Given the description of an element on the screen output the (x, y) to click on. 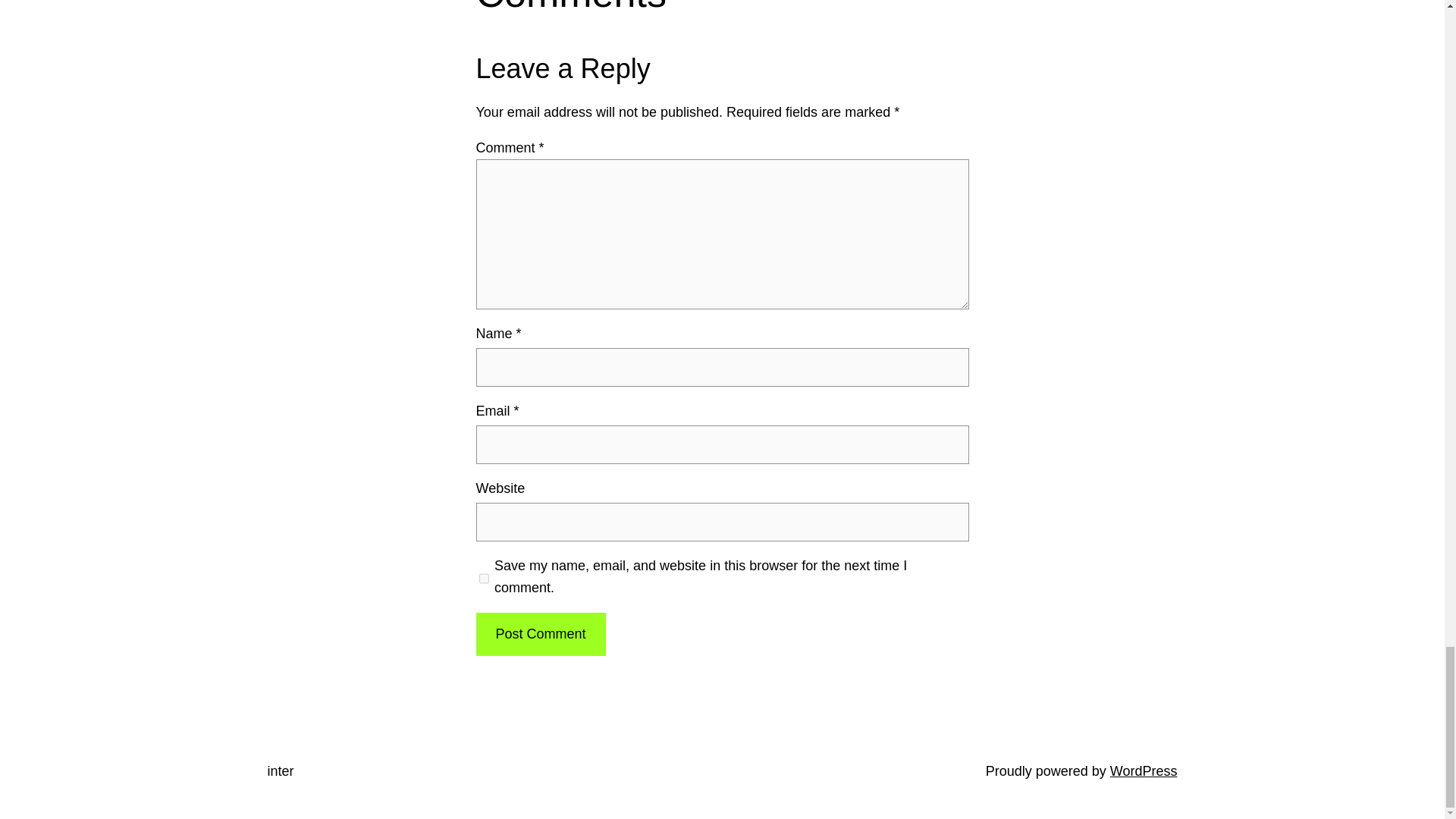
WordPress (1143, 770)
Post Comment (540, 634)
inter (280, 770)
Post Comment (540, 634)
